Given the description of an element on the screen output the (x, y) to click on. 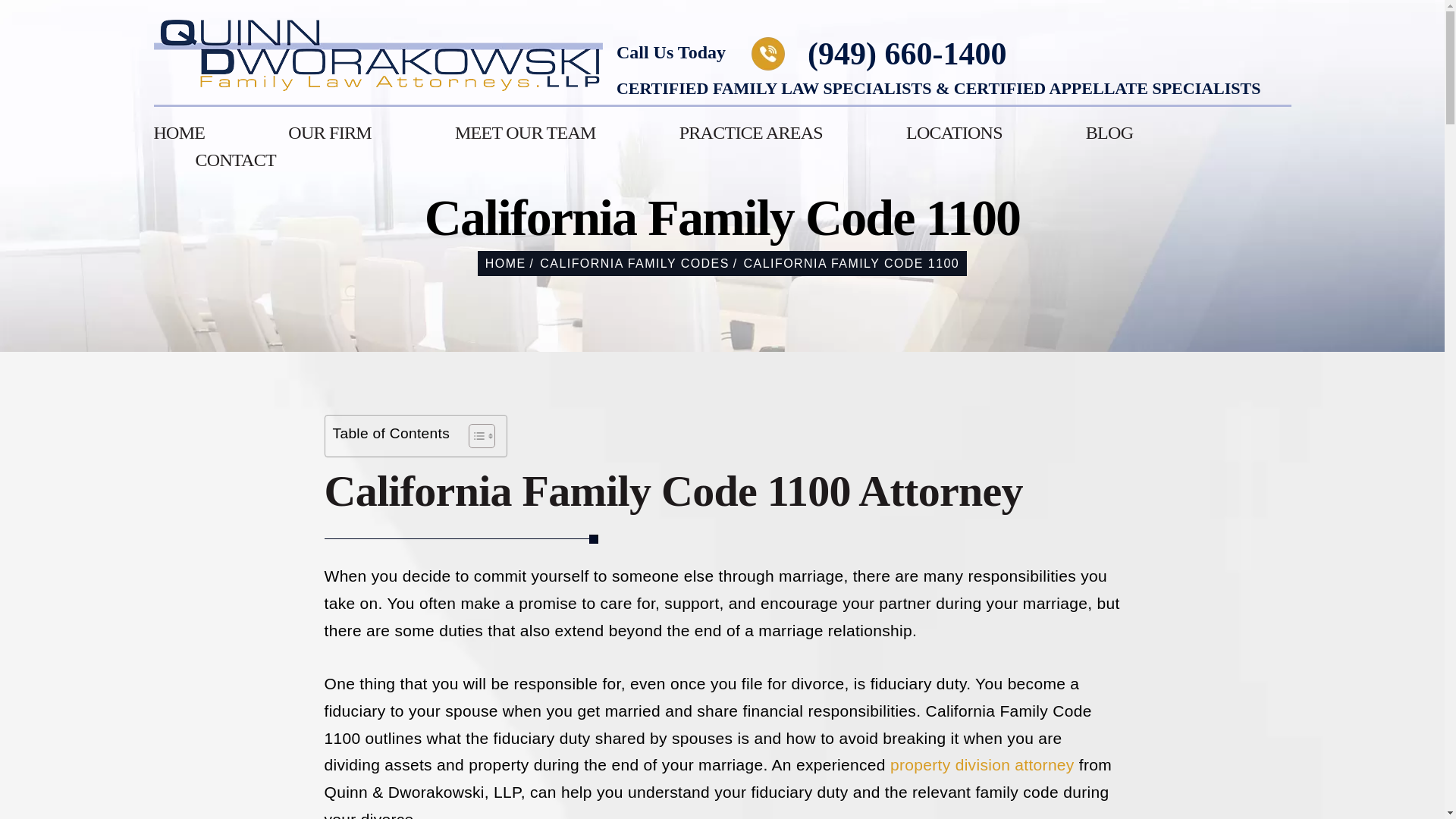
PRACTICE AREAS (750, 132)
MEET OUR TEAM (524, 132)
OUR FIRM (329, 132)
CERTIFIED APPELLATE SPECIALISTS (1106, 87)
HOME (178, 132)
